Given the description of an element on the screen output the (x, y) to click on. 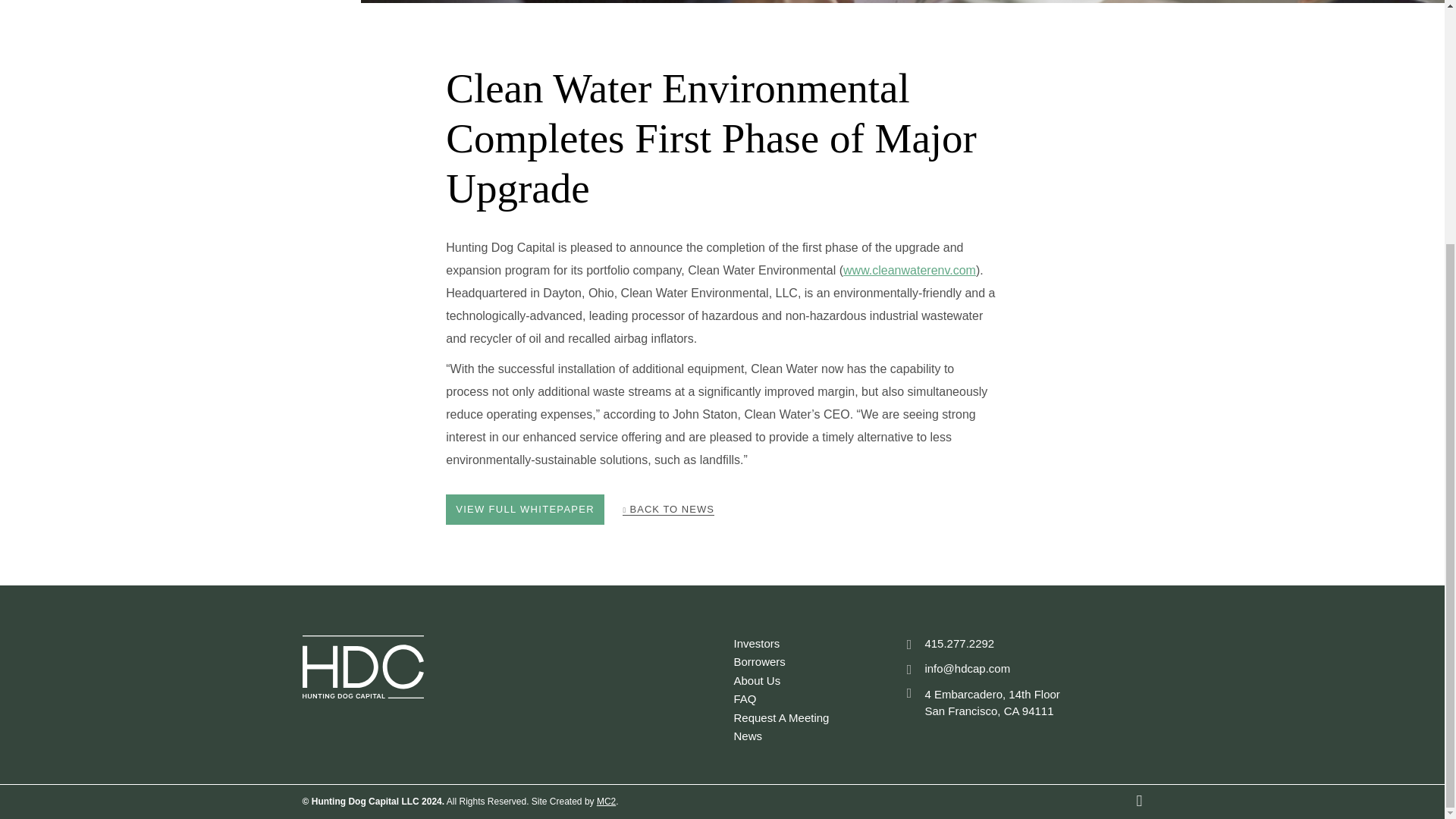
FAQ (745, 698)
Request A Meeting (781, 717)
BACK TO NEWS (668, 509)
www.cleanwaterenv.com (909, 269)
Investors (756, 643)
415.277.2292 (947, 643)
MC2 (605, 801)
About Us (756, 679)
VIEW FULL WHITEPAPER (524, 509)
Borrowers (759, 661)
